Given the description of an element on the screen output the (x, y) to click on. 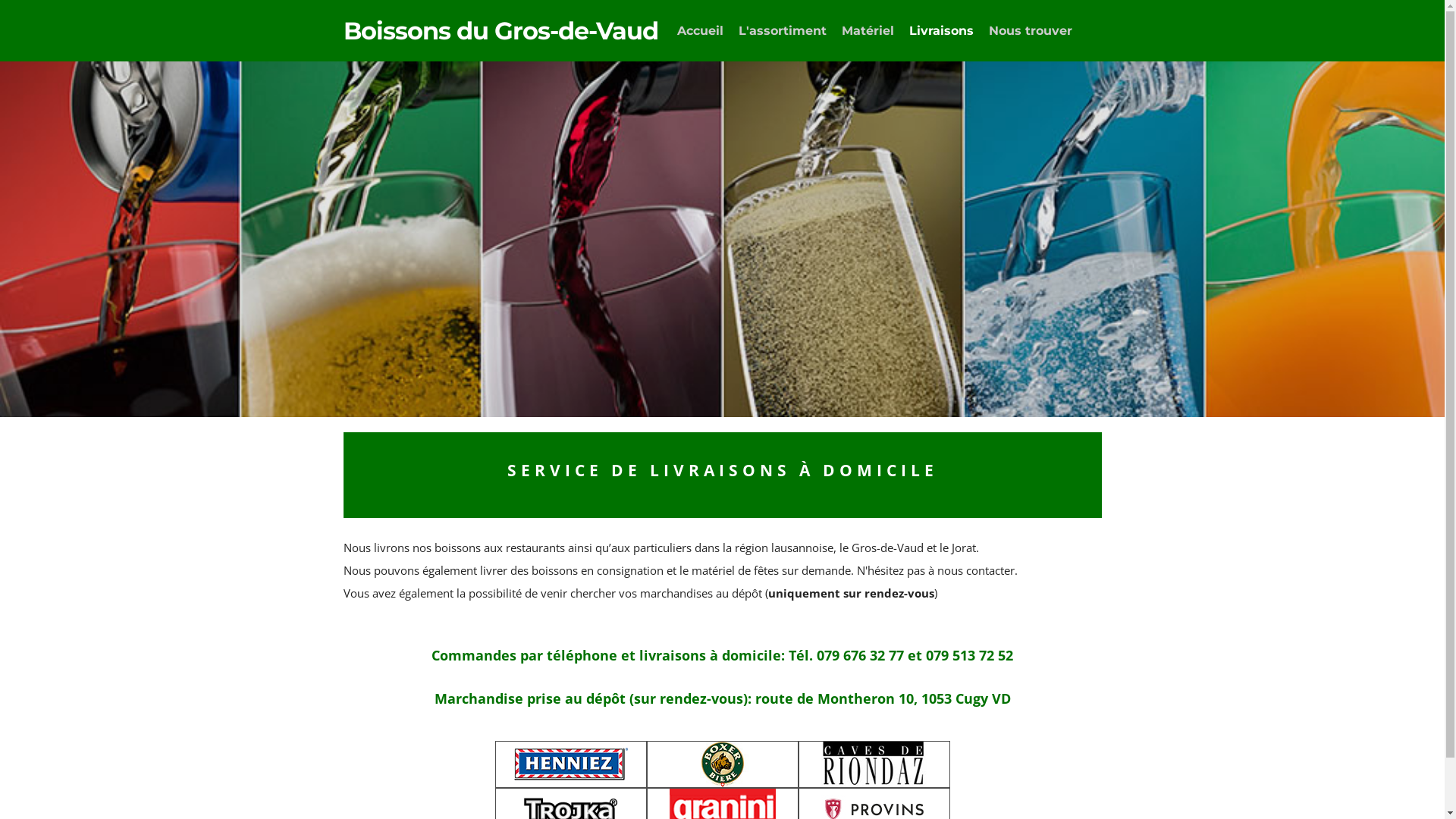
Nous trouver Element type: text (1030, 30)
Boissons du Gros-de-Vaud Element type: text (500, 30)
Livraisons Element type: text (941, 30)
L'assortiment Element type: text (782, 30)
Accueil Element type: text (700, 30)
